Given the description of an element on the screen output the (x, y) to click on. 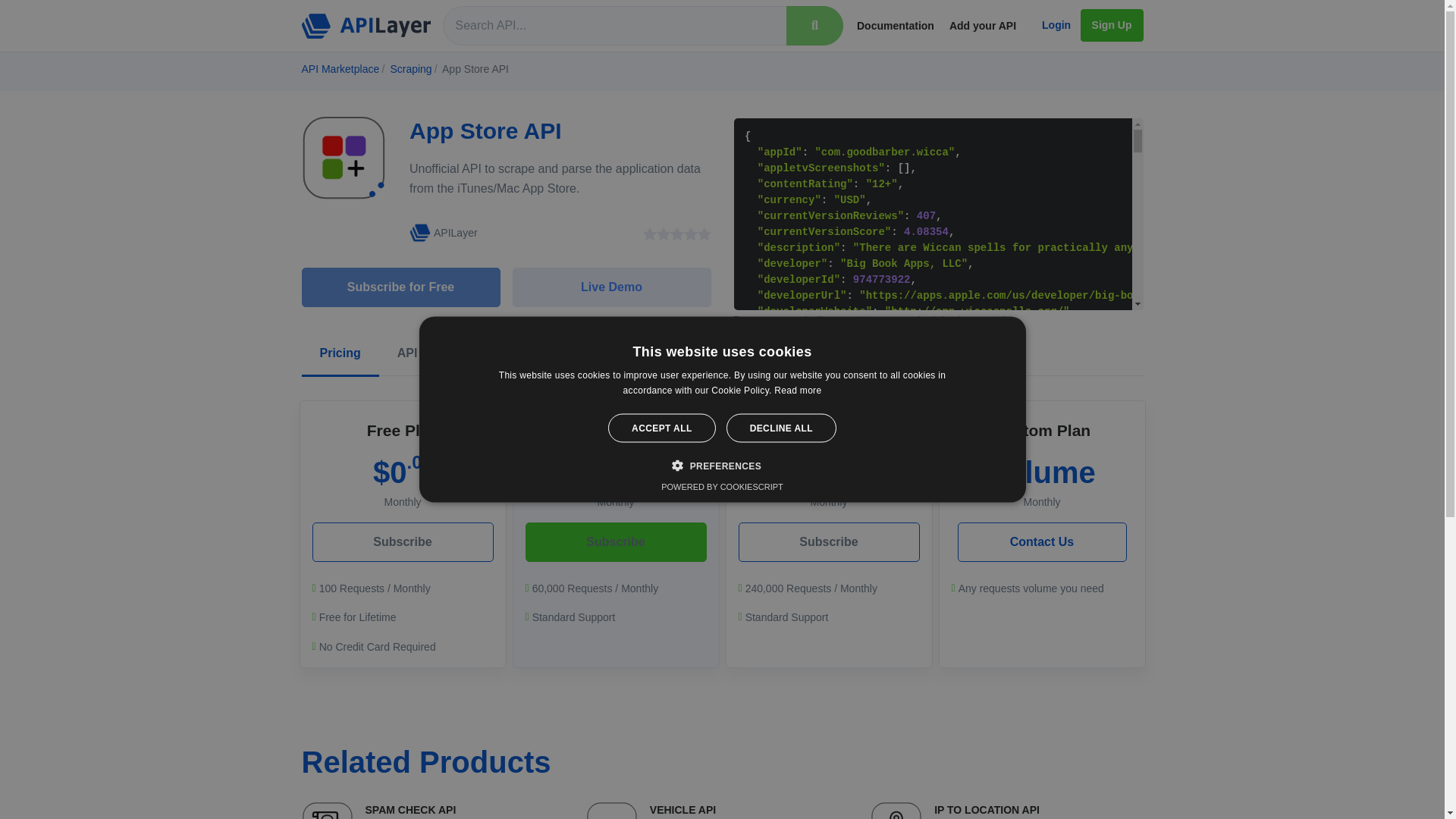
Live Demo (437, 810)
Scraping (611, 287)
Pricing (410, 69)
Sign Up (339, 354)
Contact Us (1111, 25)
API info (1040, 541)
check the documentation. (419, 354)
Subscribe (965, 319)
API Marketplace (615, 541)
APILayer (340, 69)
Documentation (443, 232)
Subscribe (523, 354)
Subscribe (829, 541)
